Given the description of an element on the screen output the (x, y) to click on. 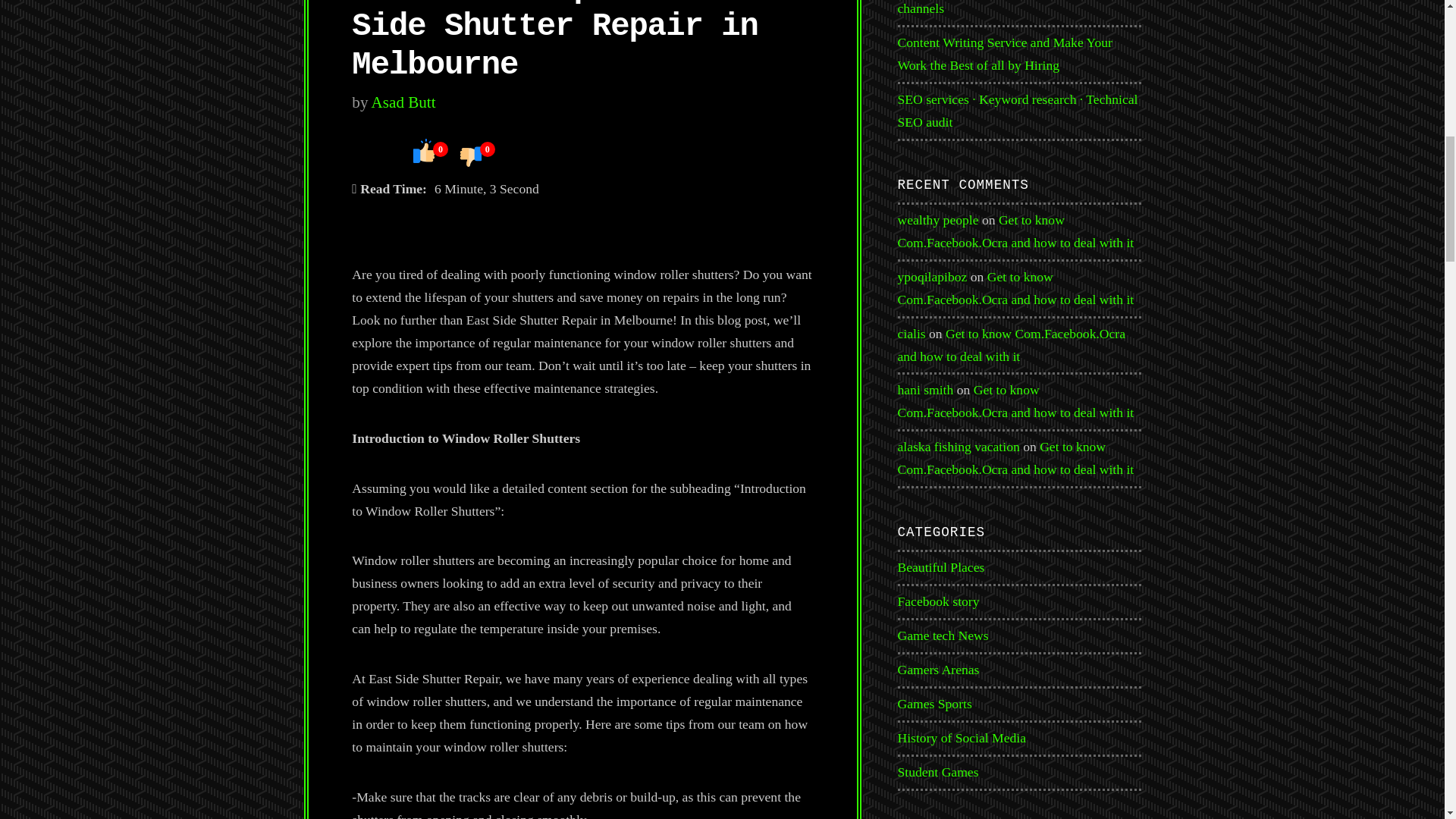
Posts by asad butt (403, 102)
Get to know Com.Facebook.Ocra and how to deal with it (1016, 288)
Live TV streaming services with local channels (1000, 7)
wealthy people (938, 219)
Get to know Com.Facebook.Ocra and how to deal with it (1011, 344)
Asad Butt (403, 102)
Get to know Com.Facebook.Ocra and how to deal with it (1016, 231)
cialis (912, 333)
ypoqilapiboz (933, 276)
hani smith (925, 389)
